Given the description of an element on the screen output the (x, y) to click on. 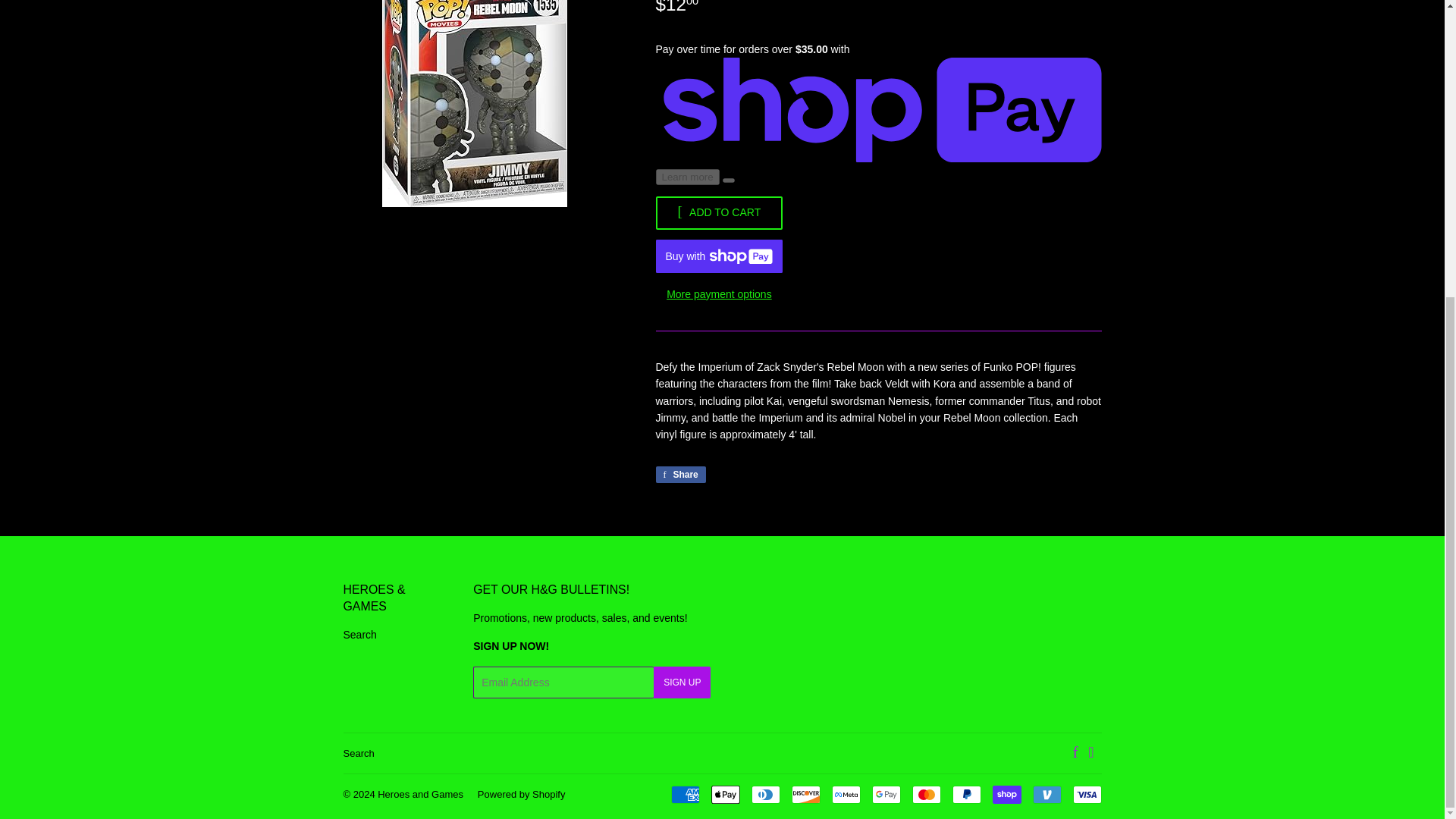
Discover (806, 794)
Diners Club (764, 794)
Mastercard (925, 794)
Share on Facebook (679, 474)
Venmo (1046, 794)
Apple Pay (725, 794)
Visa (1085, 794)
Google Pay (886, 794)
Shop Pay (1005, 794)
Meta Pay (845, 794)
